Given the description of an element on the screen output the (x, y) to click on. 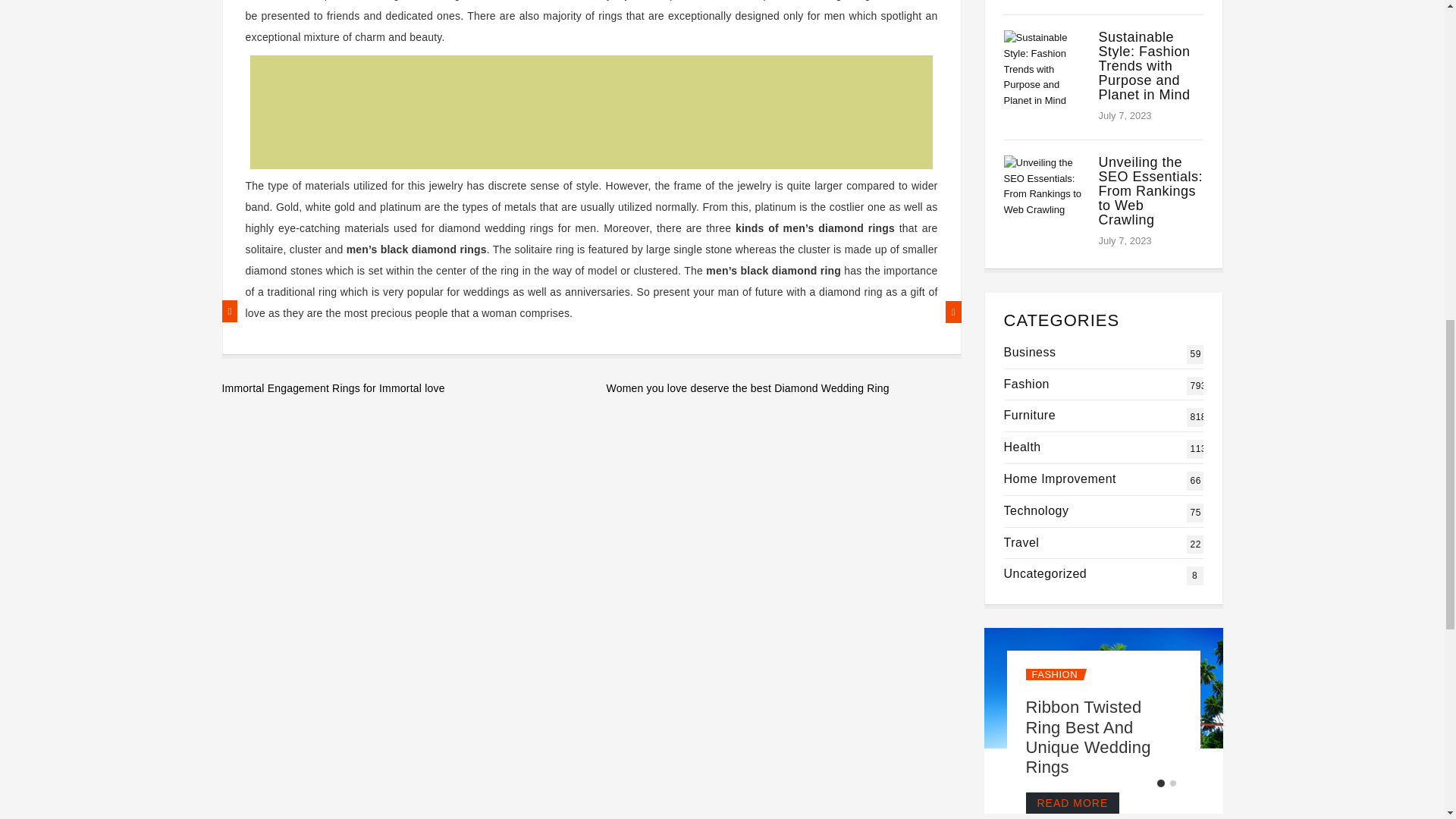
Unveiling the SEO Essentials: From Rankings to Web Crawling (1149, 190)
Unveiling the SEO Essentials: From Rankings to Web Crawling (1021, 542)
Home Improvement (1149, 190)
Immortal Engagement Rings for Immortal love (1060, 478)
Women you love deserve the best Diamond Wedding Ring (398, 387)
Fashion (783, 387)
Uncategorized (1036, 510)
Ribbon Twisted Ring Best And Unique Wedding Rings (1060, 478)
